Given the description of an element on the screen output the (x, y) to click on. 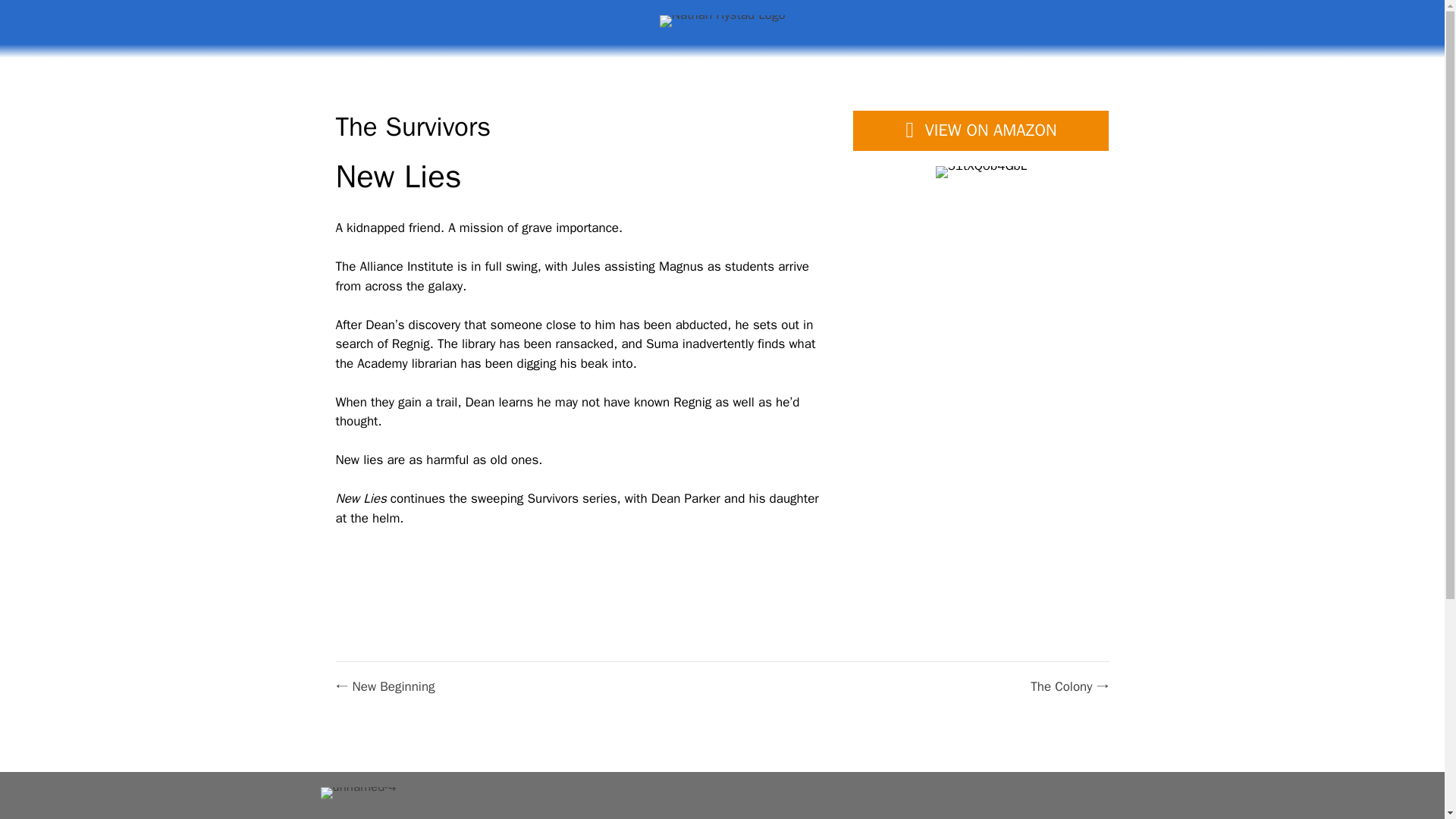
51tXQ0b4GbL (981, 172)
unnamed-4 (358, 793)
VIEW ON AMAZON (980, 130)
Nathan Hystad Logo (722, 21)
